Given the description of an element on the screen output the (x, y) to click on. 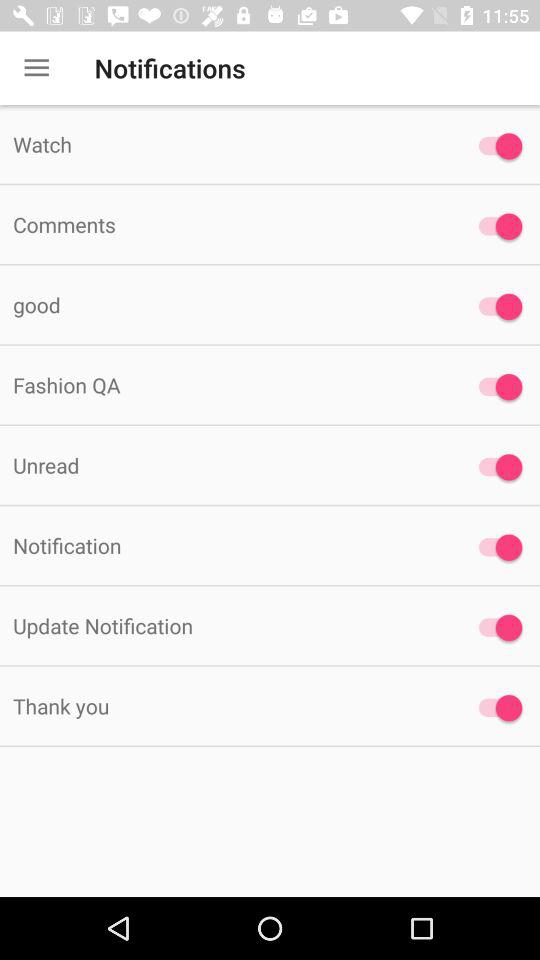
toggle notification option (495, 306)
